Given the description of an element on the screen output the (x, y) to click on. 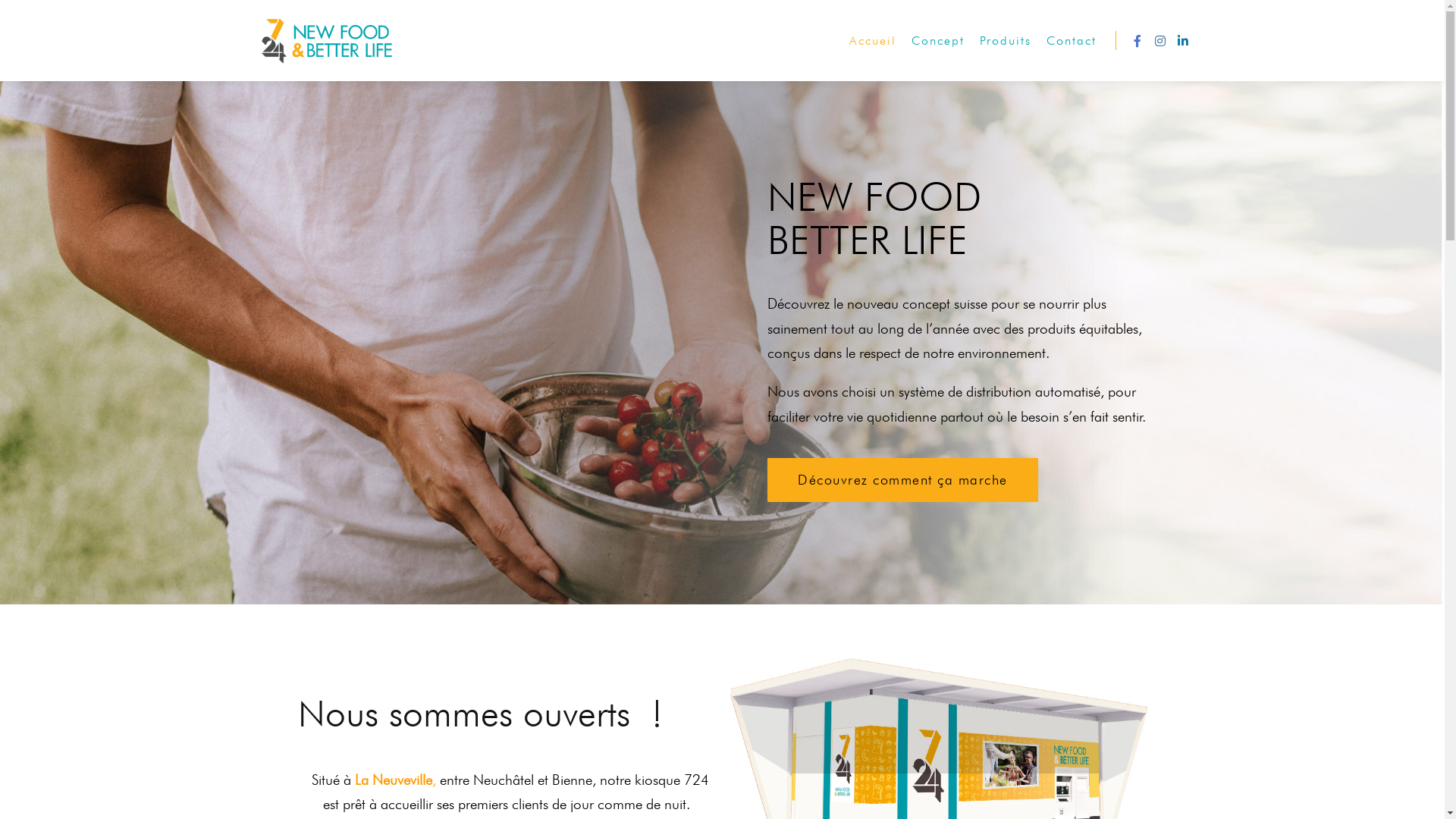
Facebook Element type: hover (1136, 40)
Concept Element type: text (937, 40)
Produits Element type: text (1005, 40)
724newfood Element type: hover (327, 40)
Accueil Element type: text (872, 40)
Instagram Element type: hover (1159, 40)
Contact Element type: text (1071, 40)
Linkedin Element type: hover (1182, 40)
La Neuveville Element type: text (393, 779)
